Given the description of an element on the screen output the (x, y) to click on. 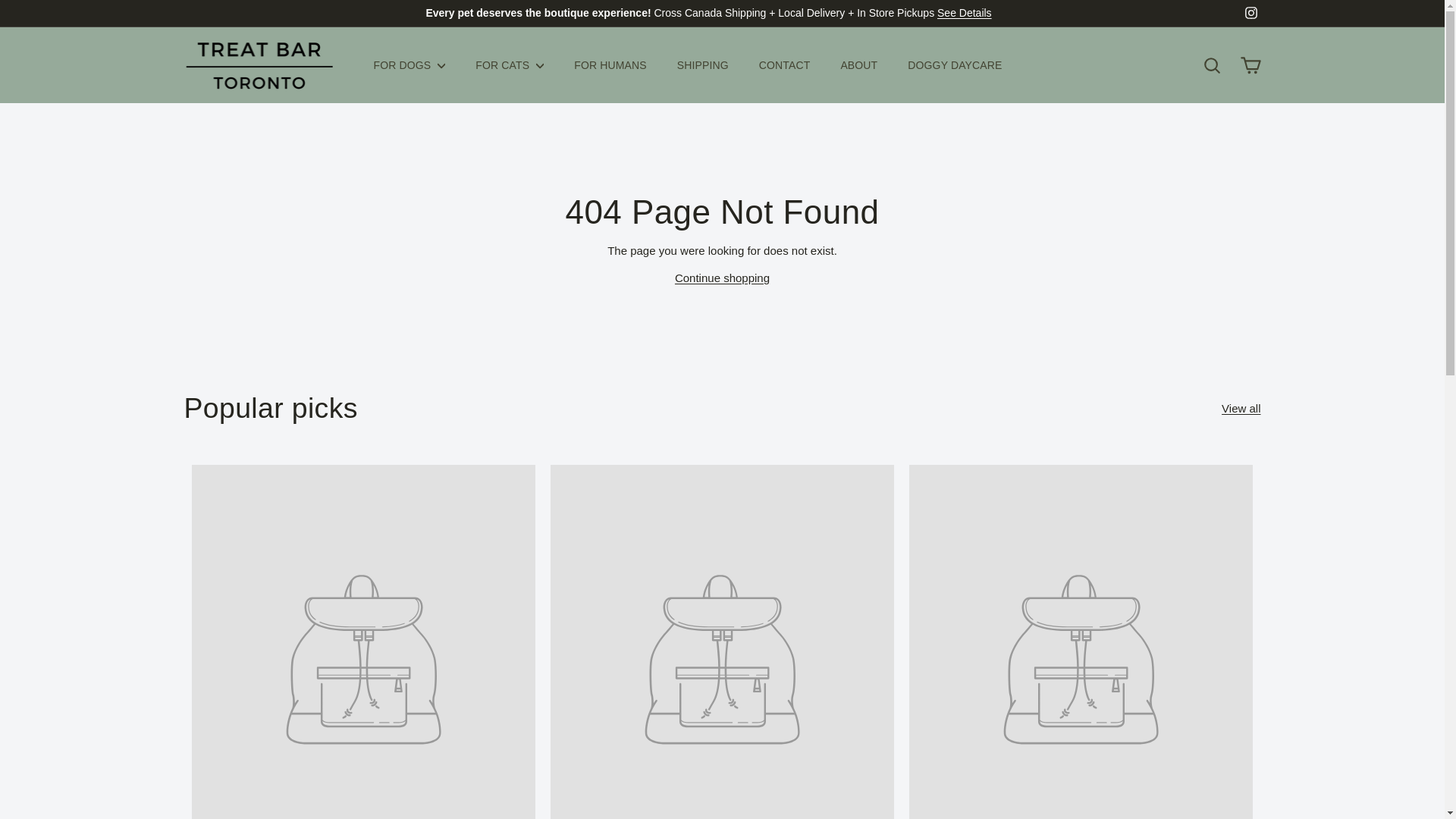
Shipping Info (964, 12)
instagram (1250, 12)
SHIPPING (703, 64)
FOR HUMANS (610, 64)
ABOUT (858, 64)
CONTACT (784, 64)
DOGGY DAYCARE (954, 64)
See Details (964, 12)
